Given the description of an element on the screen output the (x, y) to click on. 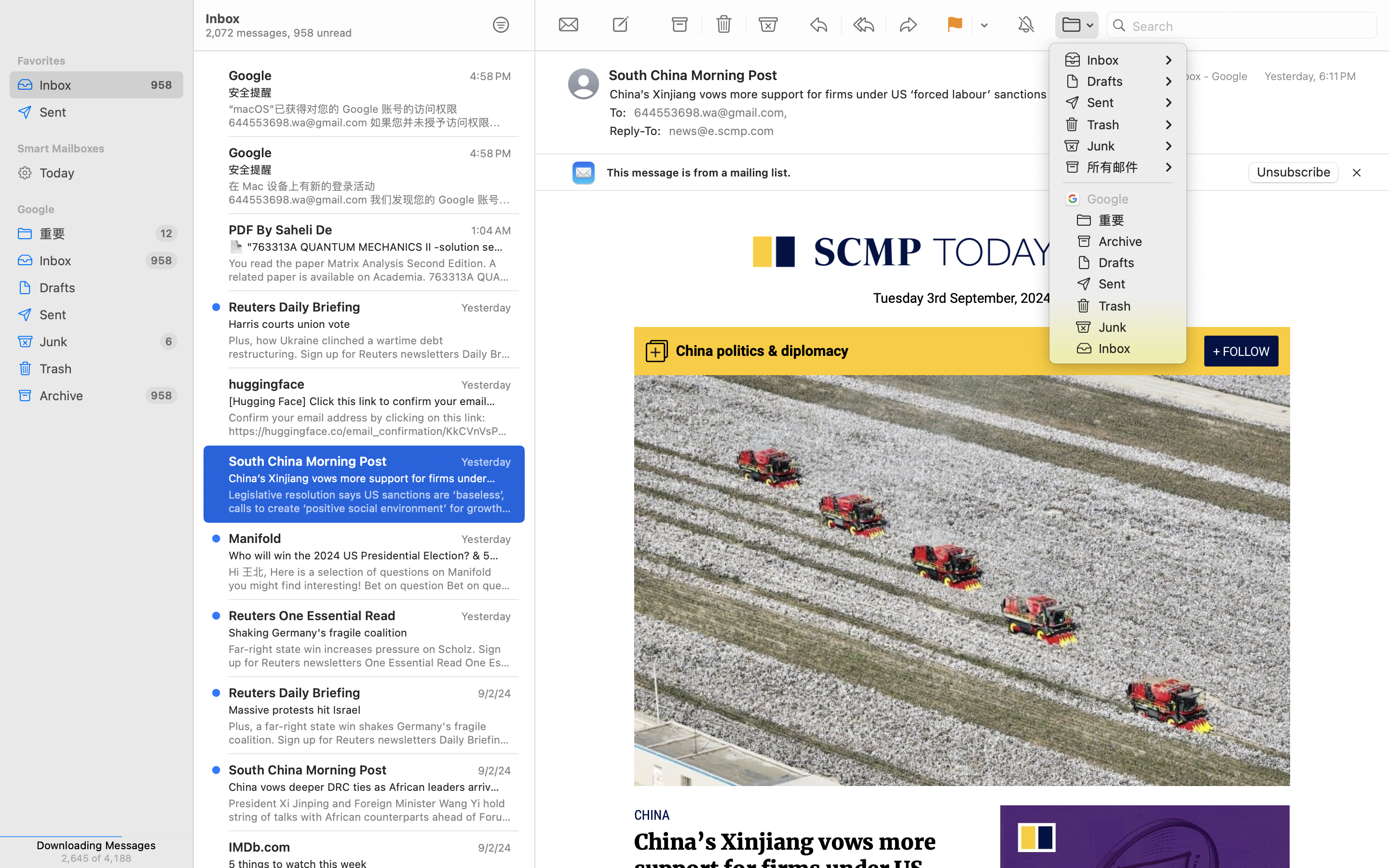
China vows deeper DRC ties as African leaders arrive for FOCAC meetings Element type: AXStaticText (365, 786)
South China Morning Post Element type: AXStaticText (696, 74)
Smart Mailboxes Element type: AXStaticText (96, 148)
0.0 Element type: AXValueIndicator (1383, 156)
￼Inbox - Google Element type: AXStaticText (1199, 75)
